Given the description of an element on the screen output the (x, y) to click on. 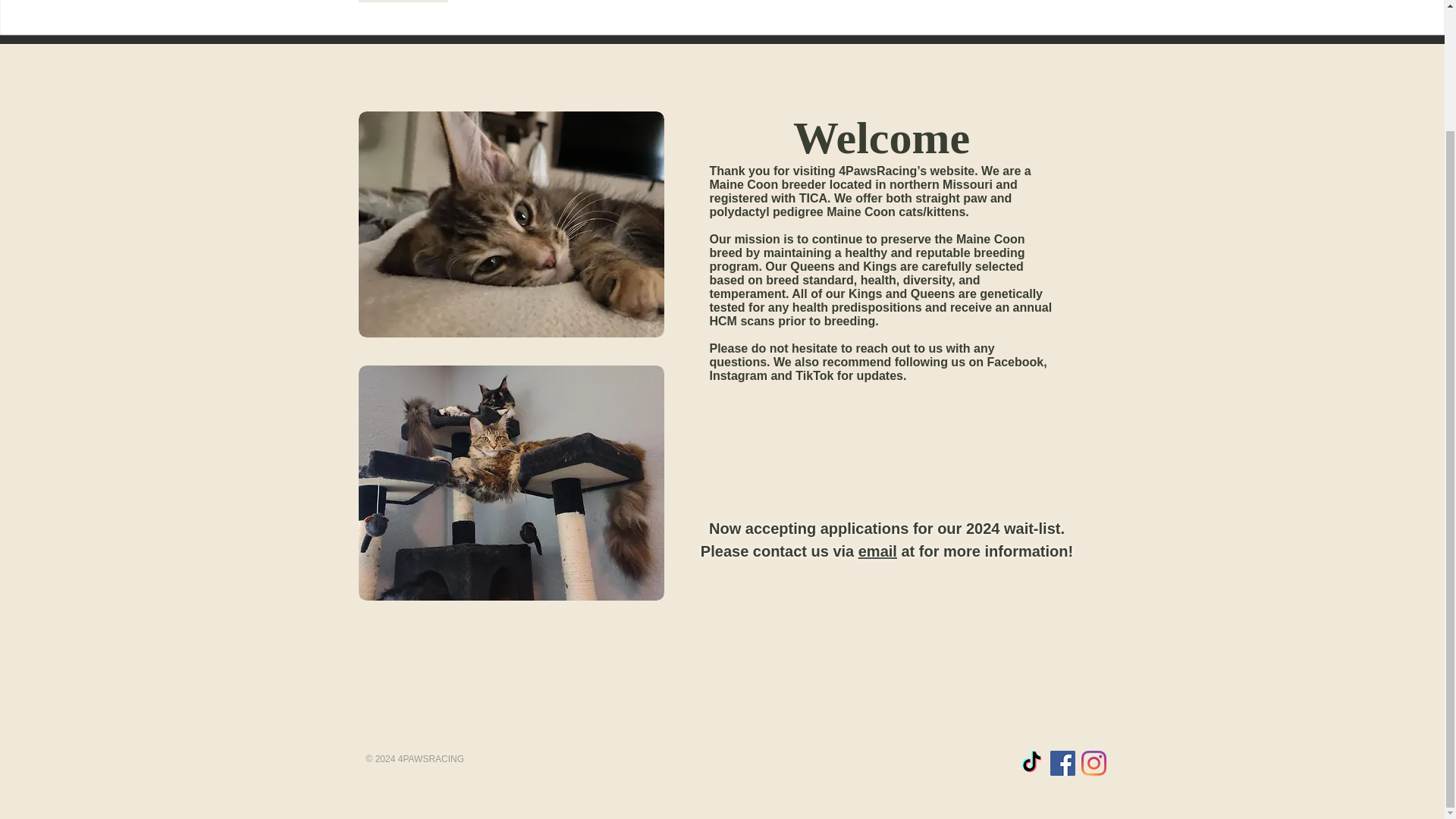
QUEENS (718, 1)
RETIRED (920, 1)
CONTACT (1024, 1)
KITTENS (818, 1)
ABOUT US (503, 1)
HOME (402, 1)
GALLERY (613, 1)
email (877, 550)
